Given the description of an element on the screen output the (x, y) to click on. 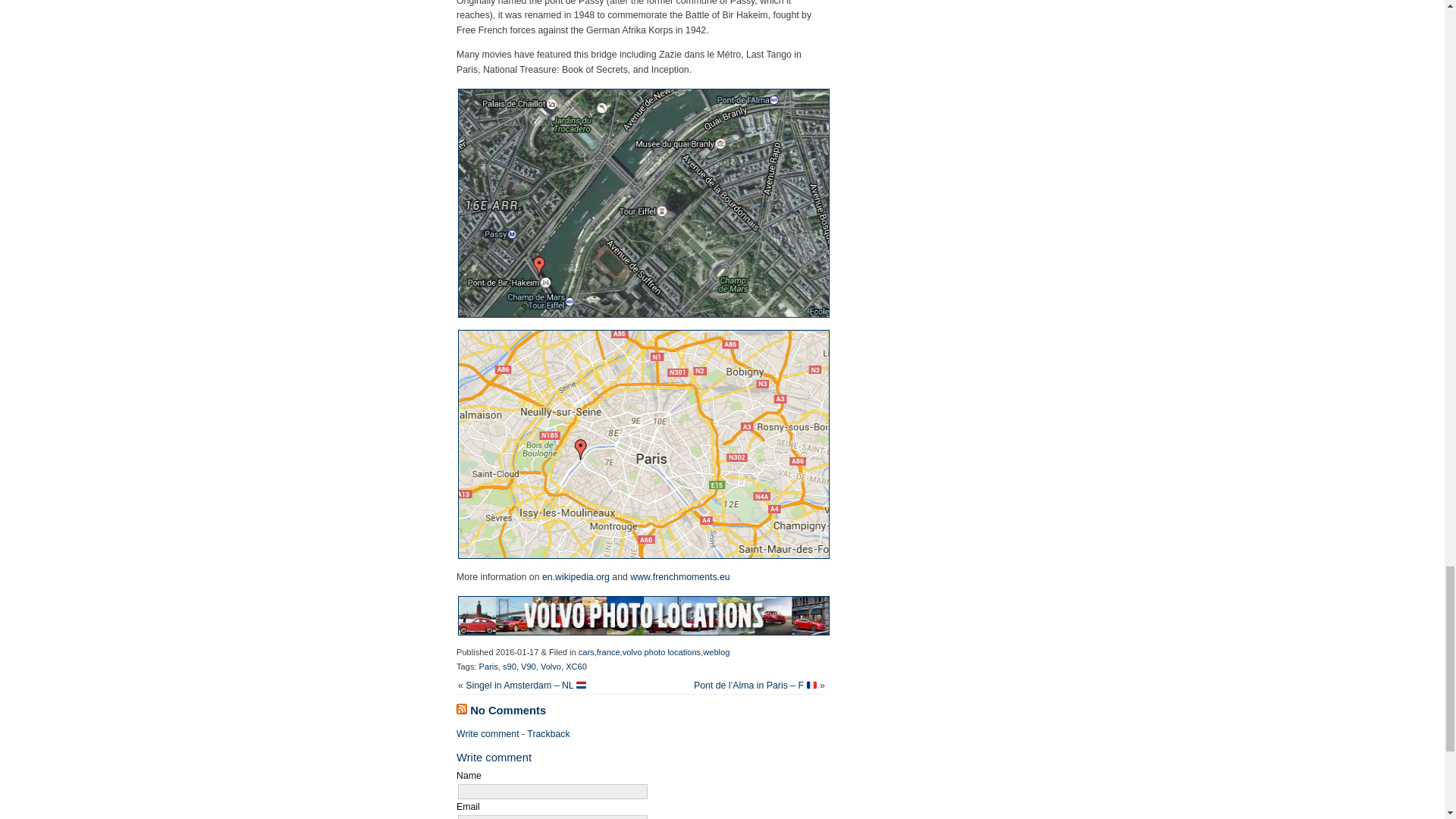
Write comment (488, 733)
france (608, 651)
Paris (488, 665)
Volvo (550, 665)
www.frenchmoments.eu (679, 576)
V90 (528, 665)
Trackback (548, 733)
s90 (509, 665)
cars (586, 651)
volvo photo locations (661, 651)
XC60 (576, 665)
weblog (716, 651)
en.wikipedia.org (575, 576)
